Given the description of an element on the screen output the (x, y) to click on. 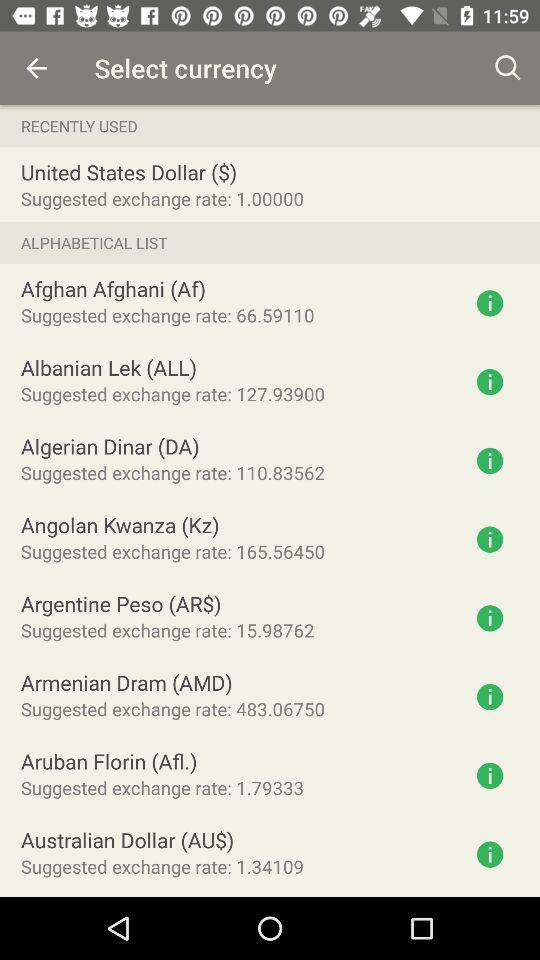
more information (490, 539)
